Given the description of an element on the screen output the (x, y) to click on. 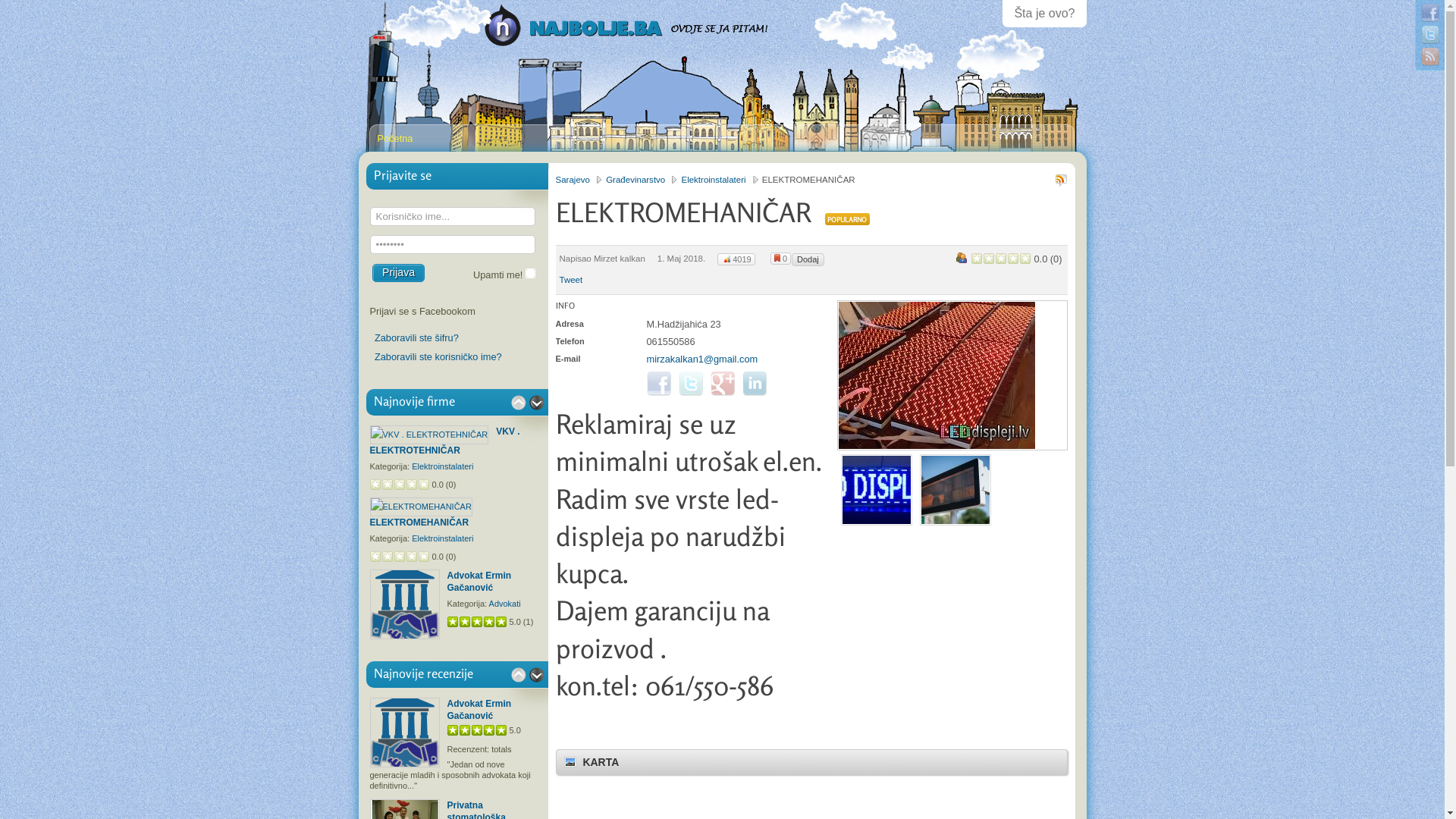
Advokati Element type: text (504, 603)
mirzakalkan1@gmail.com Element type: text (701, 358)
Prijava Element type: text (398, 272)
Tweet Element type: text (571, 279)
Pratite nas na Facebook Element type: hover (1430, 12)
Elektroinstalateri Element type: text (719, 179)
Elektroinstalateri Element type: text (442, 537)
Dodaj Element type: text (807, 259)
RSS Element type: hover (1430, 56)
Sarajevo Element type: text (578, 179)
Pratite nas na Twitter Element type: hover (1430, 34)
Advertisement Element type: hover (952, 626)
Elektroinstalateri Element type: text (442, 465)
